Given the description of an element on the screen output the (x, y) to click on. 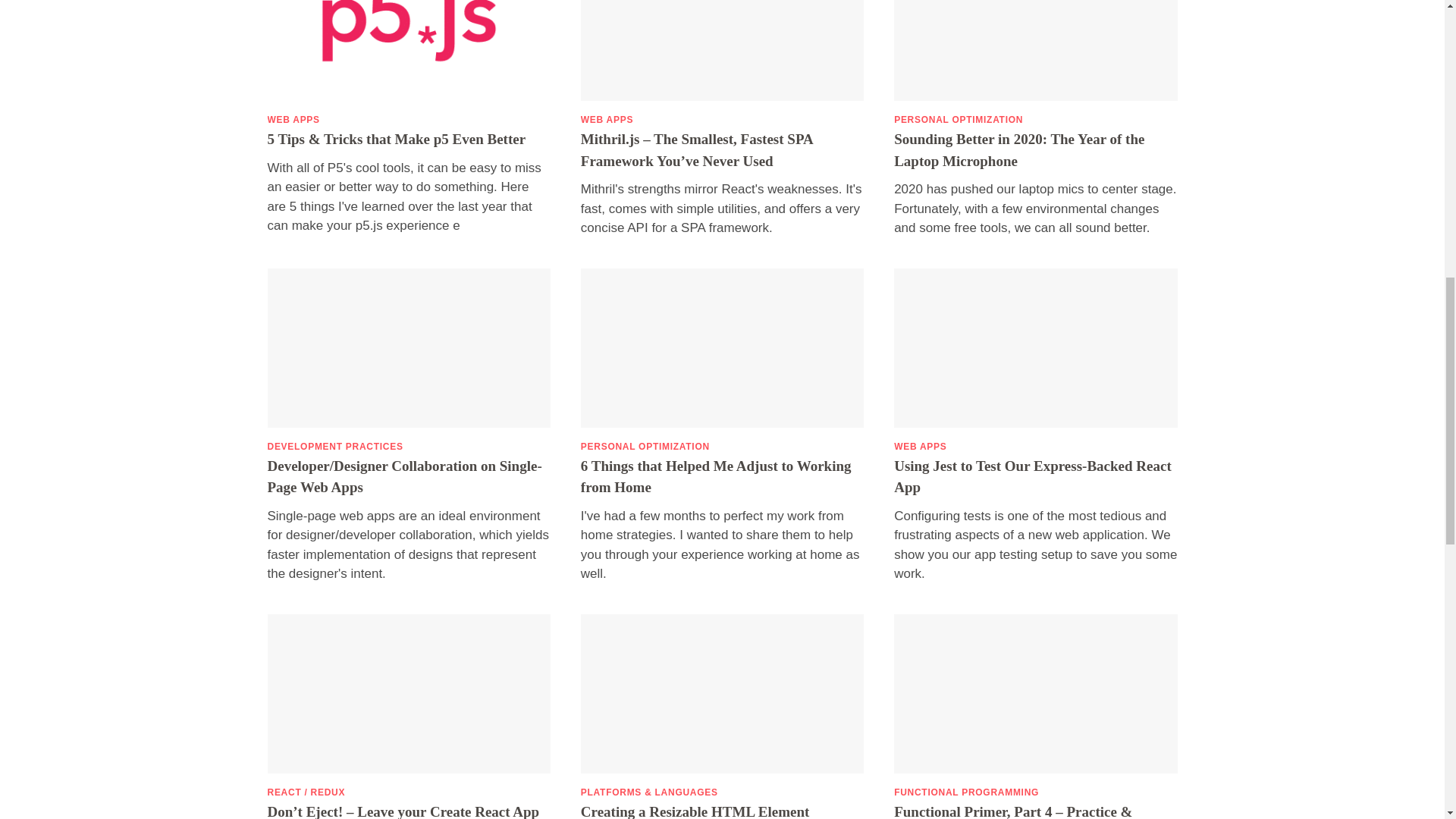
WEB APPS (606, 119)
WEB APPS (292, 119)
